Given the description of an element on the screen output the (x, y) to click on. 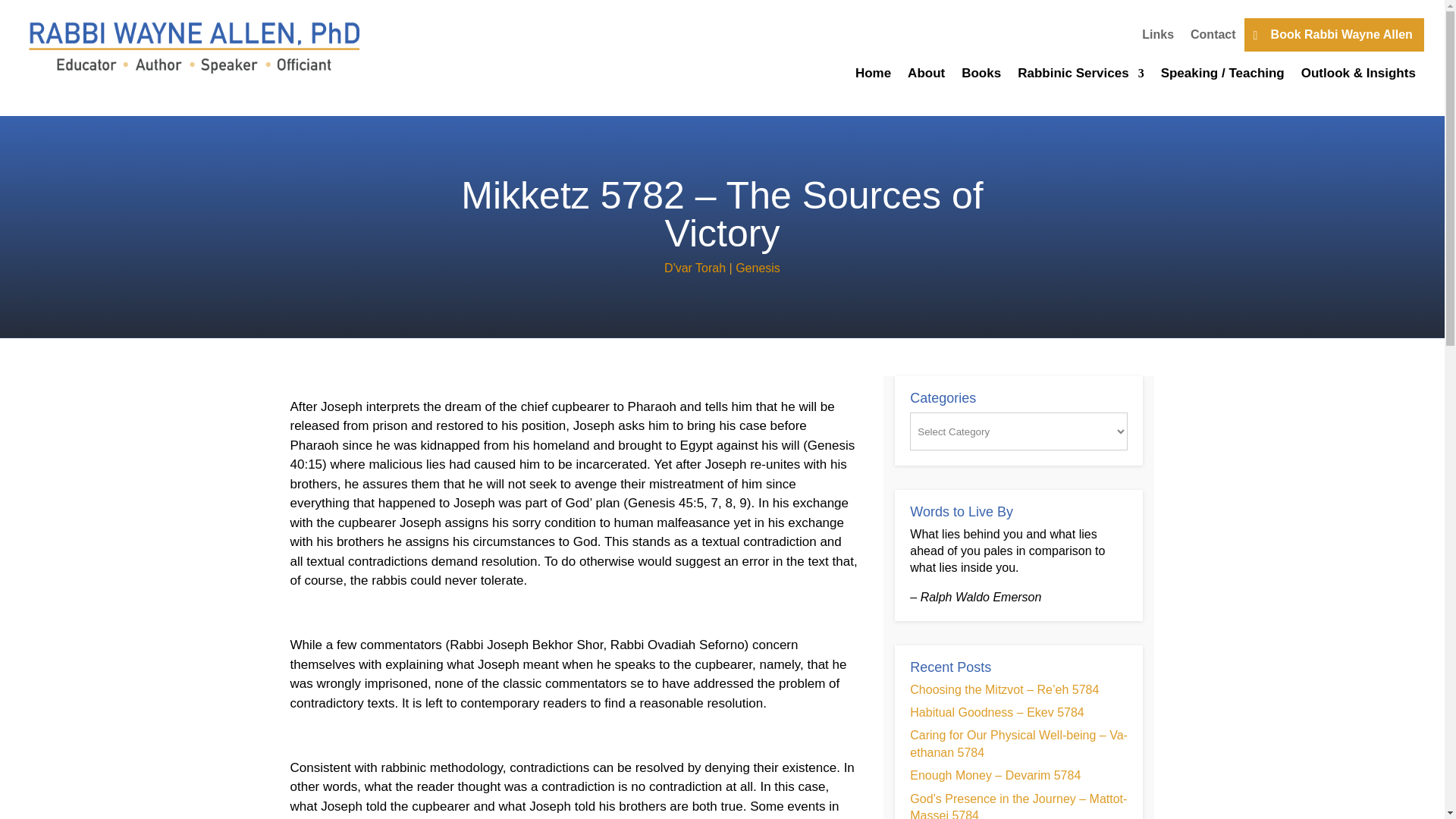
Books (980, 76)
Contact (1213, 34)
Links (1157, 34)
Book Rabbi Wayne Allen (1333, 34)
Rabbinic Services (1079, 76)
About (925, 76)
rabbi-wayne-allen-logo-final (194, 45)
Home (873, 76)
